Given the description of an element on the screen output the (x, y) to click on. 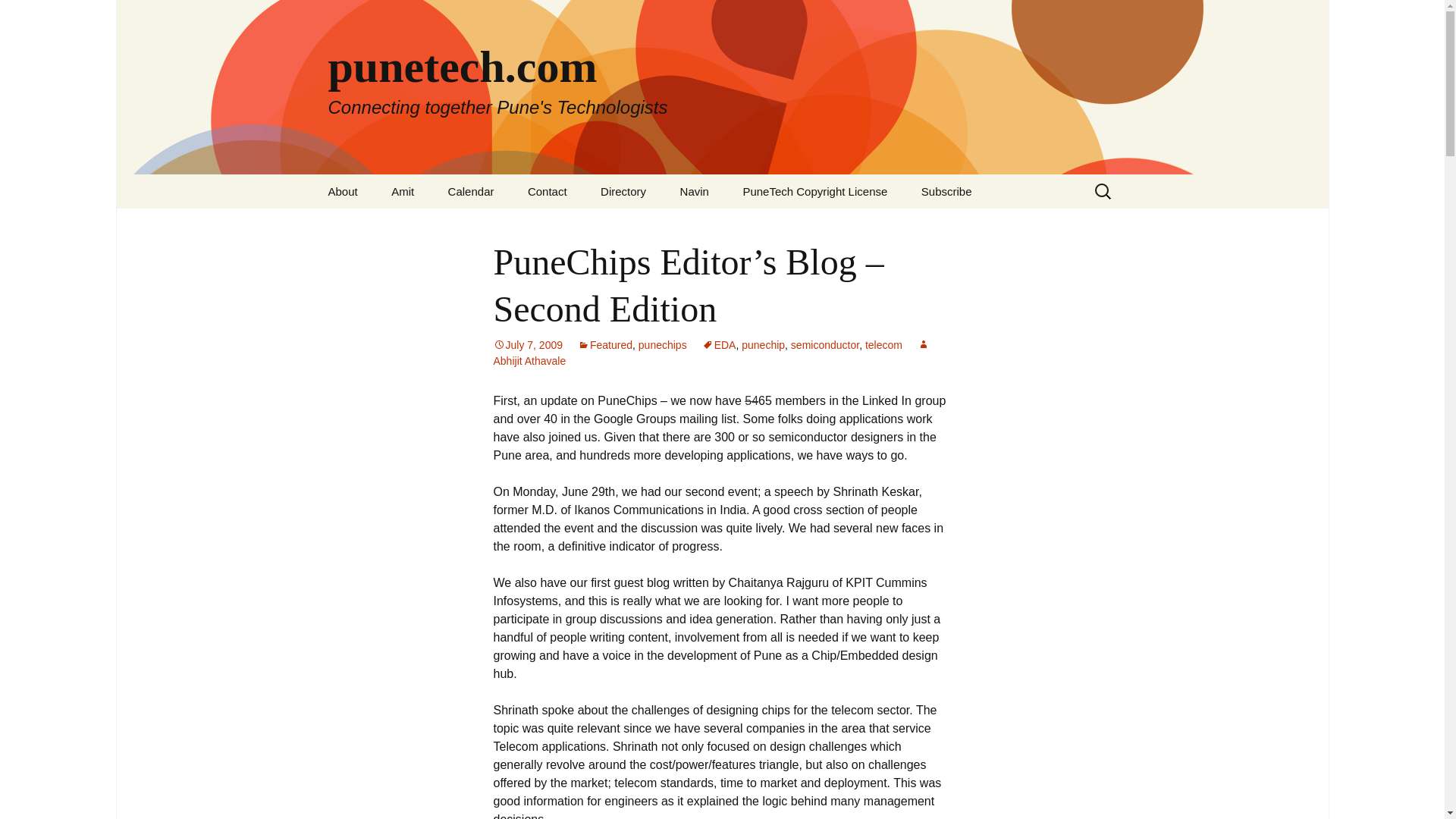
Abhijit Athavale (710, 352)
Amit (402, 191)
Directory (623, 191)
telecom (883, 345)
EDA (718, 345)
July 7, 2009 (527, 345)
Subscribe (946, 191)
Featured (604, 345)
Navin (694, 191)
Contact (547, 191)
Top ranked websites from Pune (660, 230)
punechips (663, 345)
semiconductor (824, 345)
Search (18, 15)
